Given the description of an element on the screen output the (x, y) to click on. 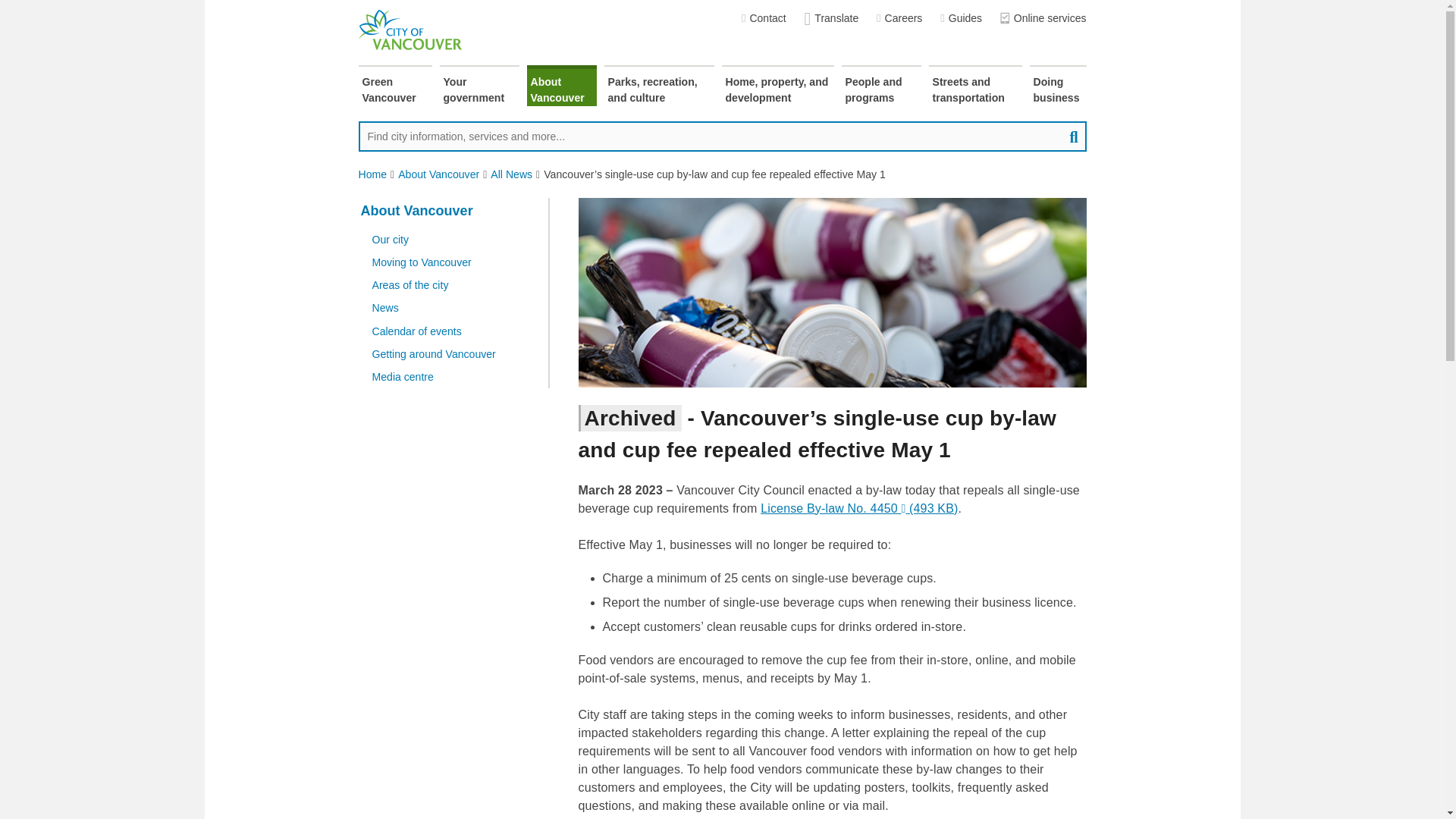
Streets and transportation (975, 85)
About Vancouver (560, 85)
Home, property, and development (778, 85)
Discarded single-use coffee cups (832, 292)
All News (511, 174)
About Vancouver (438, 174)
Doing business (1057, 85)
Online services (1043, 18)
Careers (898, 18)
Green Vancouver (394, 85)
Guides (960, 18)
Your government (479, 85)
People and programs (881, 85)
Home (372, 174)
Contact (763, 18)
